Given the description of an element on the screen output the (x, y) to click on. 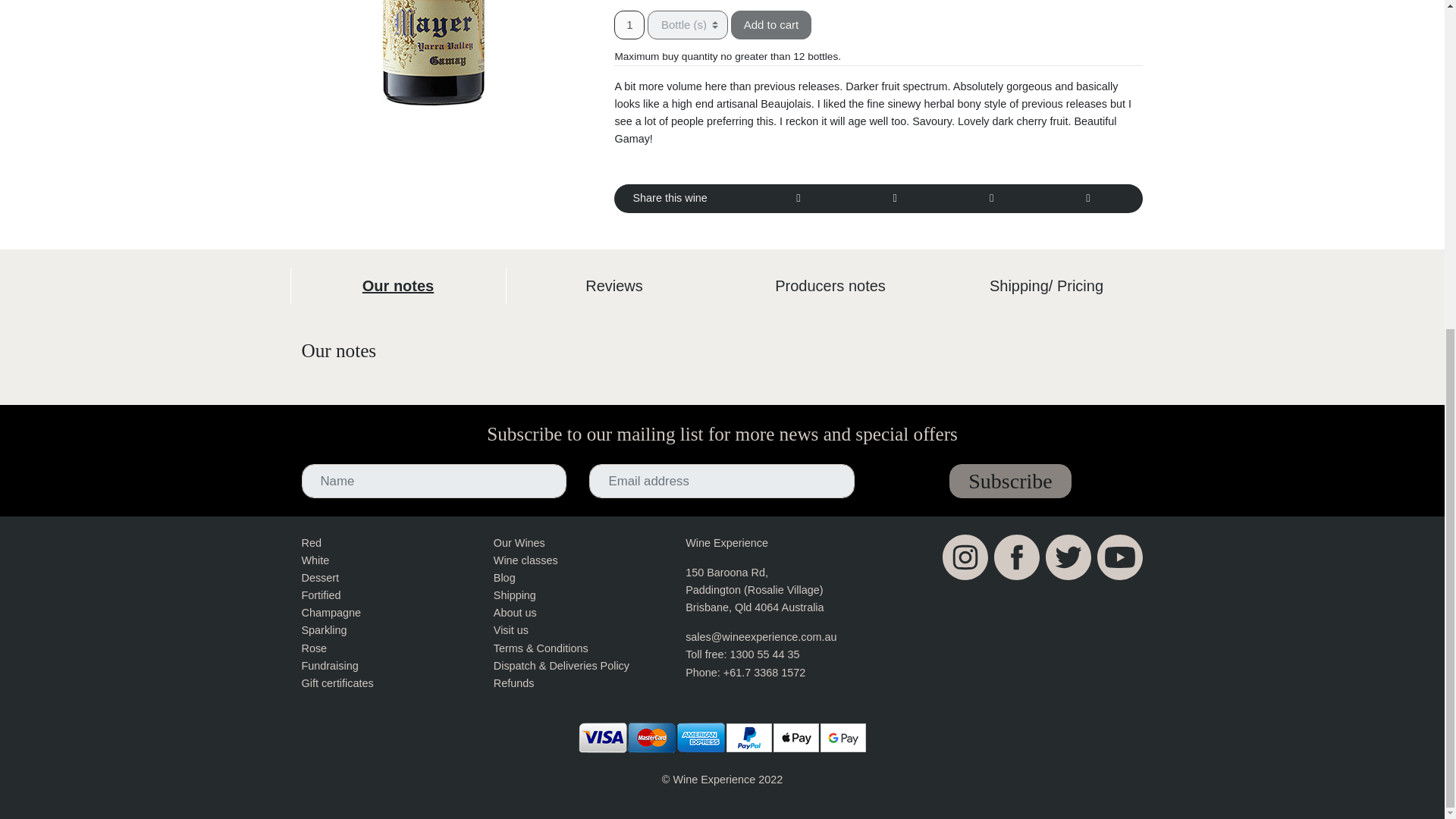
Subscribe (1009, 480)
1 (629, 24)
Add to cart (771, 24)
Payment Options (722, 737)
